Given the description of an element on the screen output the (x, y) to click on. 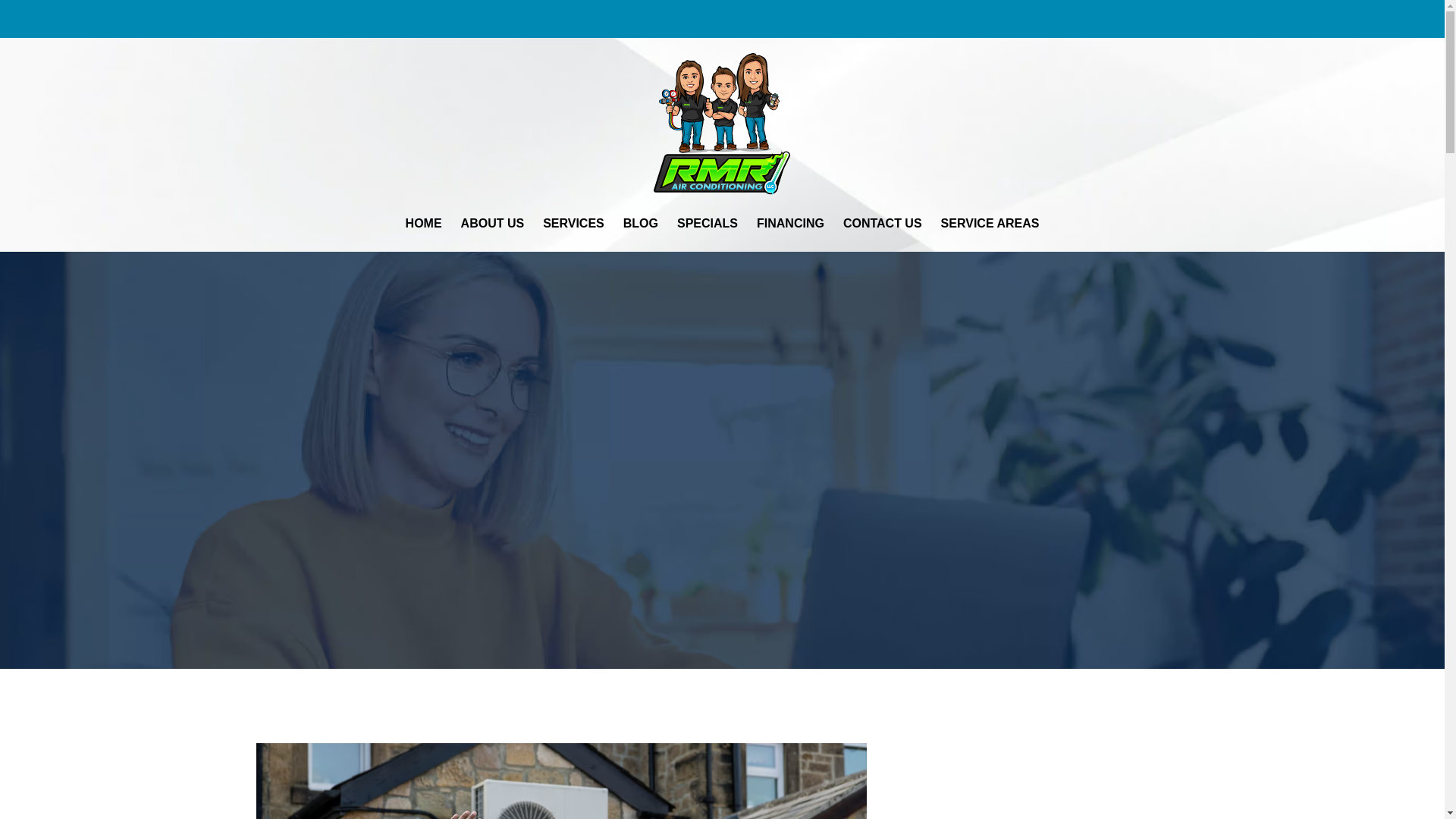
BLOG (641, 223)
CONTACT US (883, 223)
FINANCING (790, 223)
SPECIALS (706, 223)
ABOUT US (492, 223)
SERVICE AREAS (990, 223)
SERVICES (573, 223)
HOME (423, 223)
